Given the description of an element on the screen output the (x, y) to click on. 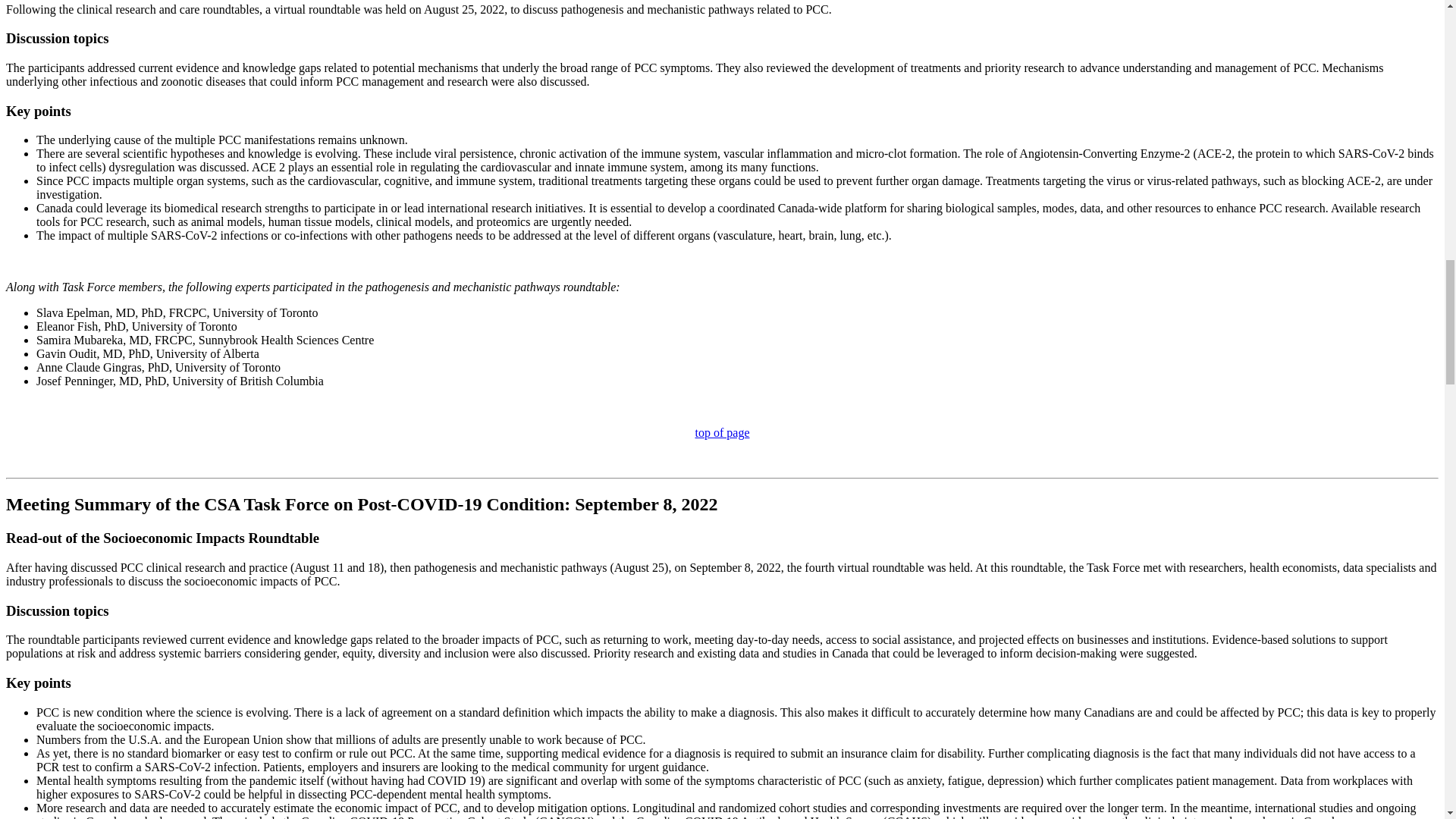
top of page (721, 431)
